Given the description of an element on the screen output the (x, y) to click on. 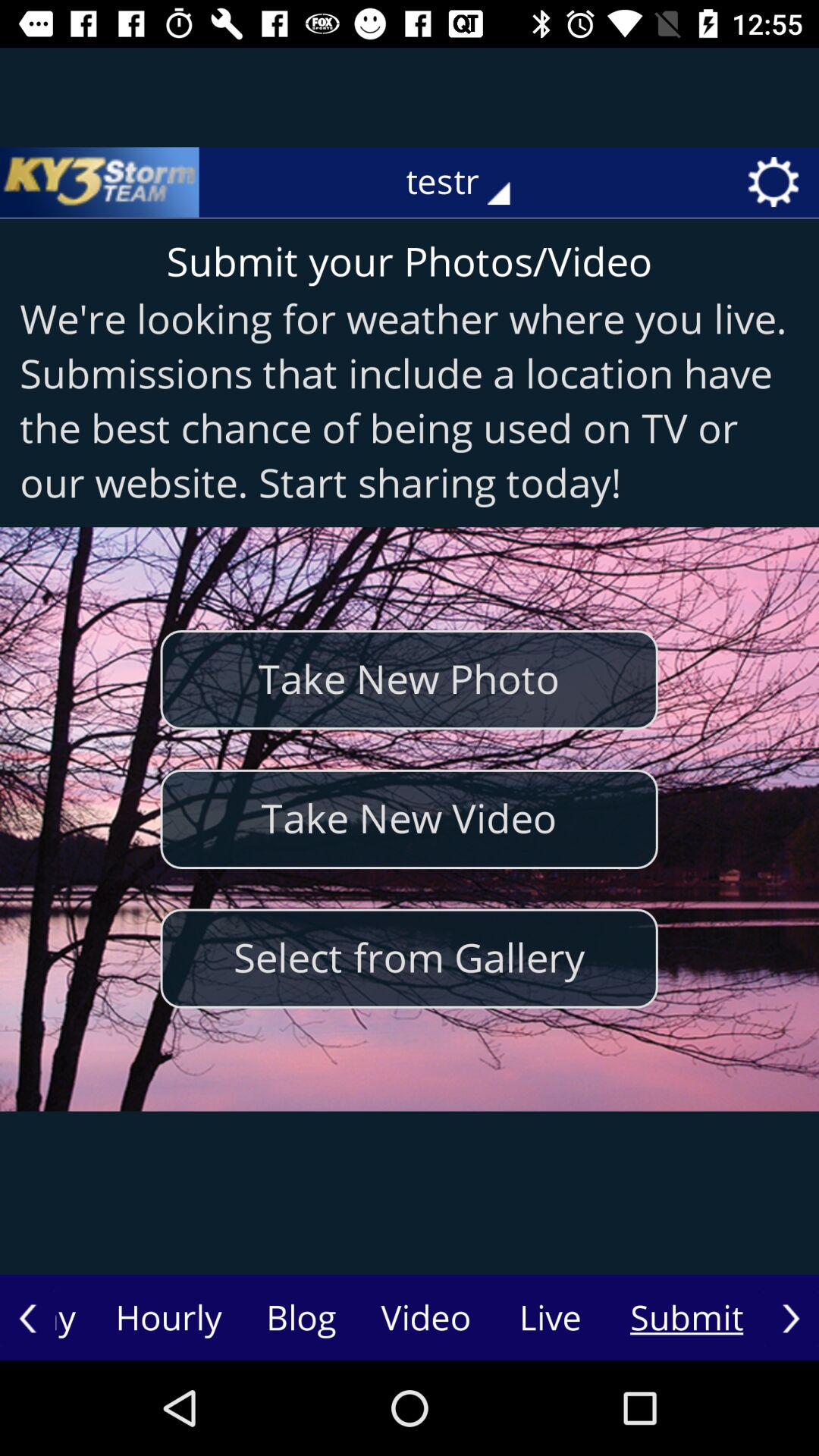
click on live button  beside submit (550, 1318)
select the icon right to testr (778, 181)
select the third button from the top of the page (409, 958)
click on submit at right corner of the bottom page (686, 1318)
click the button on the bottom right corner of the web page (791, 1317)
